Given the description of an element on the screen output the (x, y) to click on. 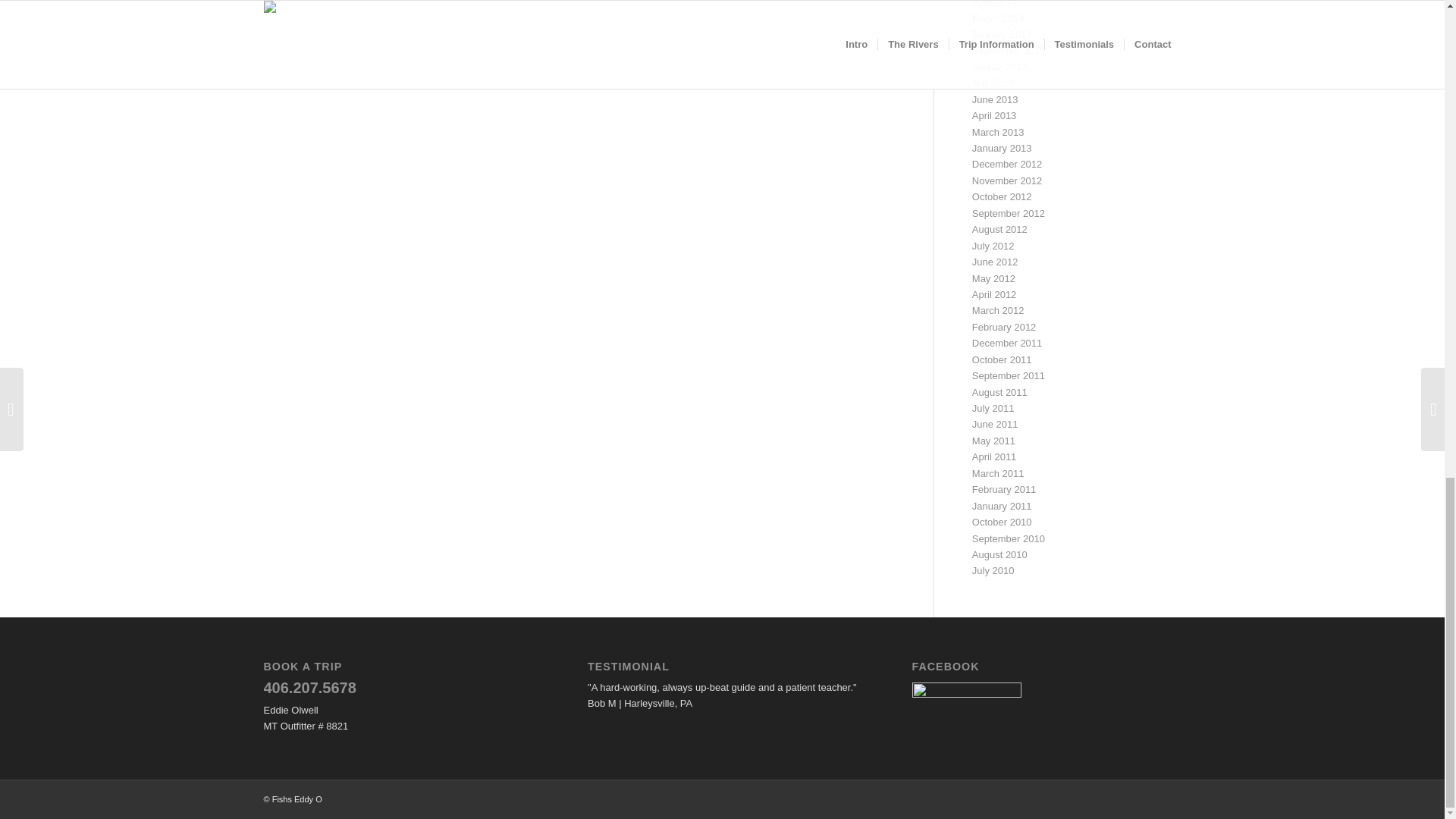
Facebook (967, 698)
